Given the description of an element on the screen output the (x, y) to click on. 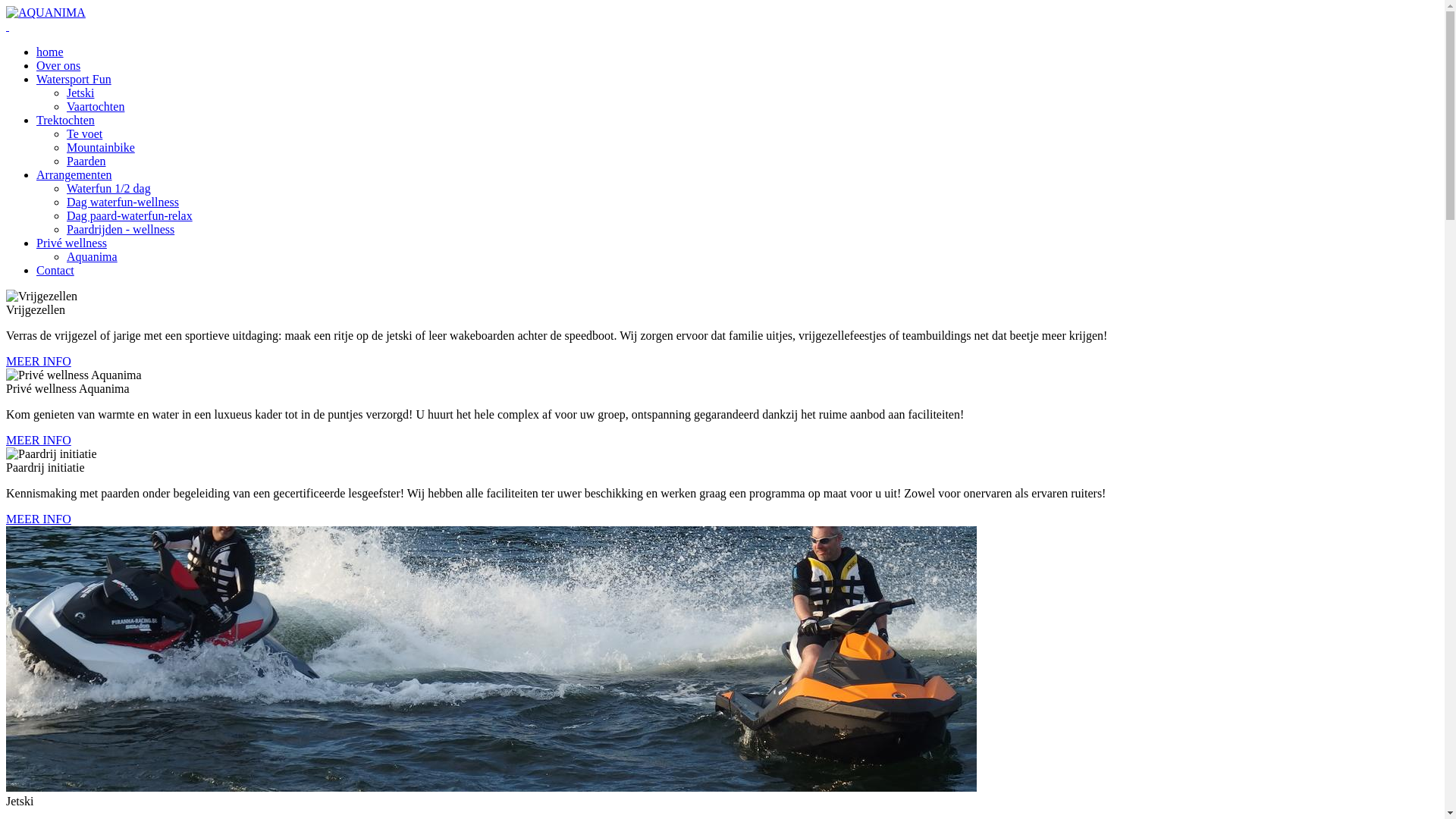
Waterfun 1/2 dag Element type: text (108, 188)
Watersport Fun Element type: text (73, 78)
Aquanima Element type: text (91, 256)
MEER INFO Element type: text (38, 360)
Trektochten Element type: text (65, 119)
Mountainbike Element type: text (100, 147)
Dag paard-waterfun-relax Element type: text (129, 215)
Te voet Element type: text (84, 133)
Vaartochten Element type: text (95, 106)
Jetski Element type: text (80, 92)
home Element type: text (49, 51)
Dag waterfun-wellness Element type: text (122, 201)
Arrangementen Element type: text (74, 174)
Over ons Element type: text (58, 65)
MEER INFO Element type: text (38, 518)
MEER INFO Element type: text (38, 439)
  Element type: text (7, 25)
Paarden Element type: text (86, 160)
Paardrijden - wellness Element type: text (120, 228)
Contact Element type: text (55, 269)
